Given the description of an element on the screen output the (x, y) to click on. 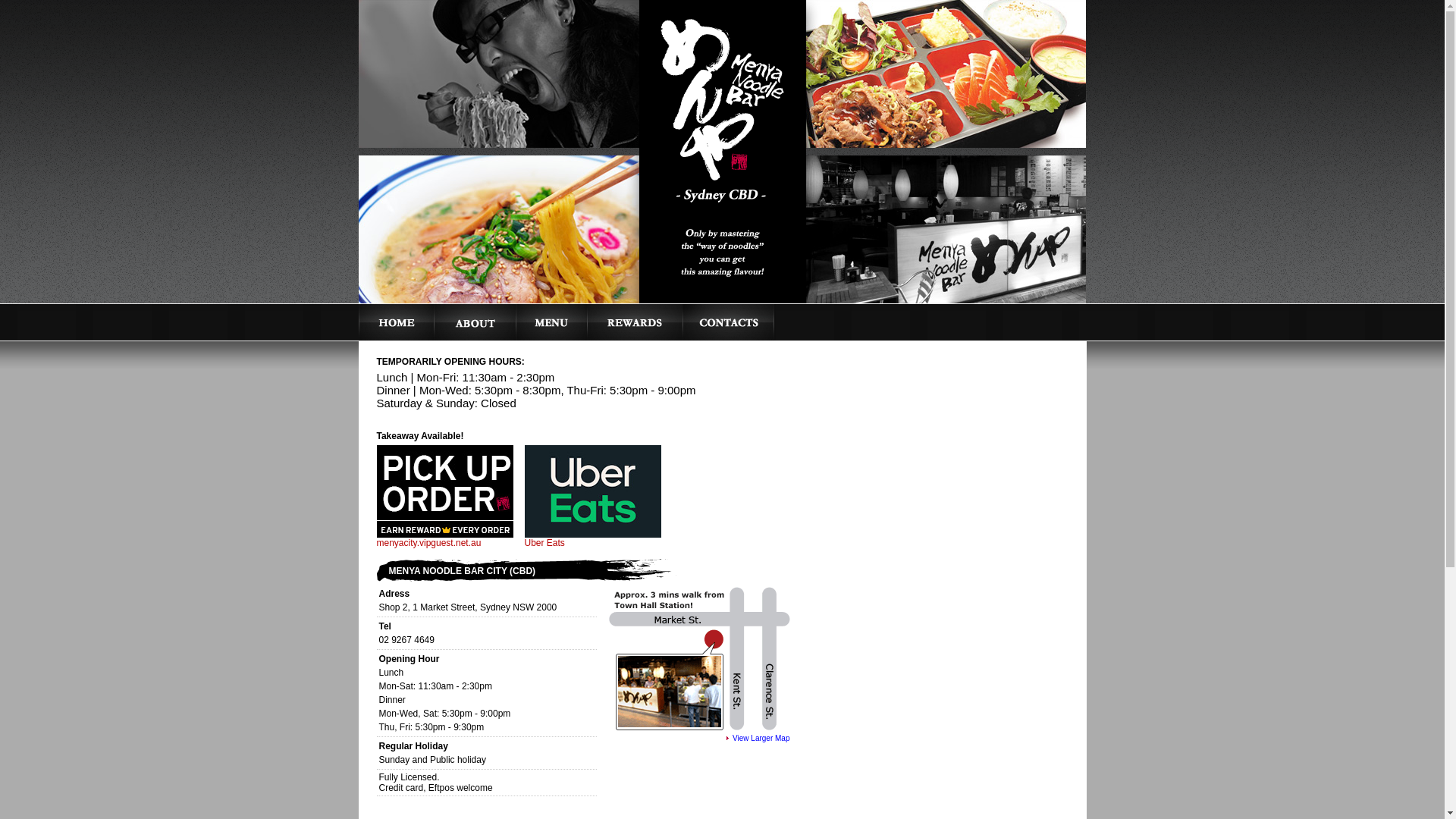
View Larger Map Element type: text (757, 738)
Uber Eats Element type: text (544, 542)
menyacity.vipguest.net.au Element type: text (428, 542)
